Given the description of an element on the screen output the (x, y) to click on. 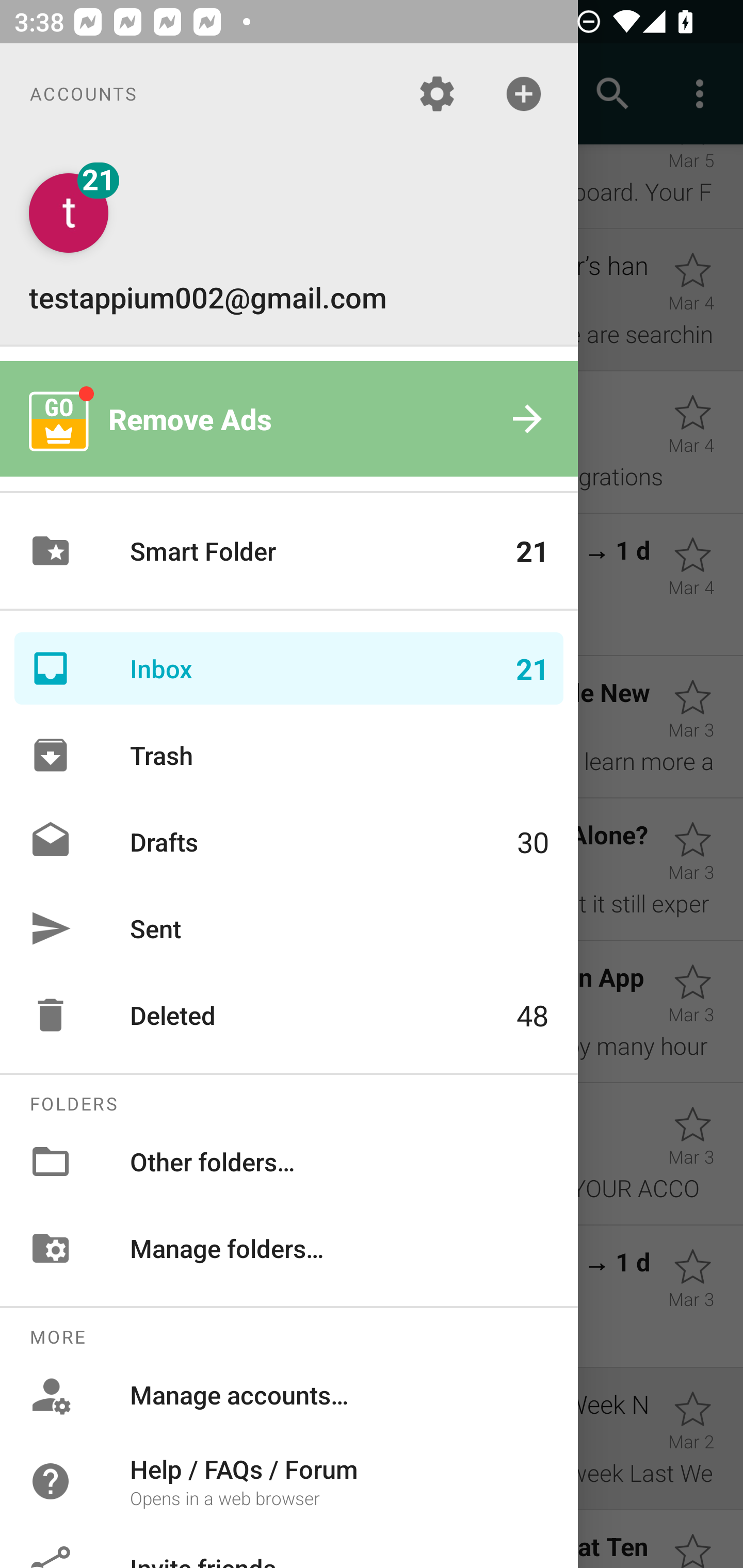
testappium002@gmail.com (289, 244)
Remove Ads (289, 418)
Smart Folder 21 (289, 551)
Inbox 21 (289, 668)
Trash (289, 754)
Drafts 30 (289, 841)
Sent (289, 928)
Deleted 48 (289, 1015)
Other folders… (289, 1160)
Manage folders… (289, 1248)
Manage accounts… (289, 1394)
Help / FAQs / Forum Opens in a web browser (289, 1480)
